Given the description of an element on the screen output the (x, y) to click on. 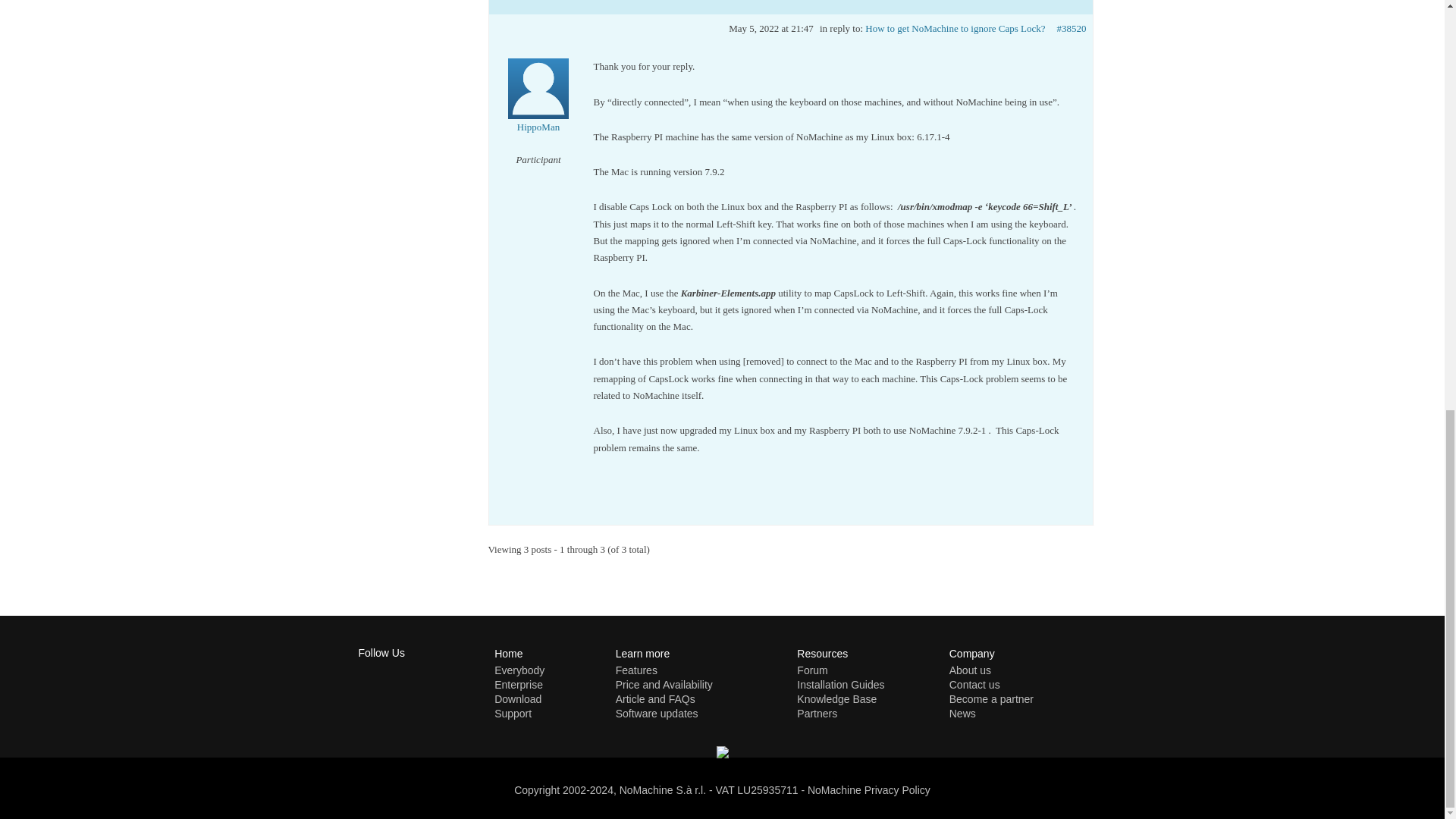
View HippoMan's profile (537, 105)
